Given the description of an element on the screen output the (x, y) to click on. 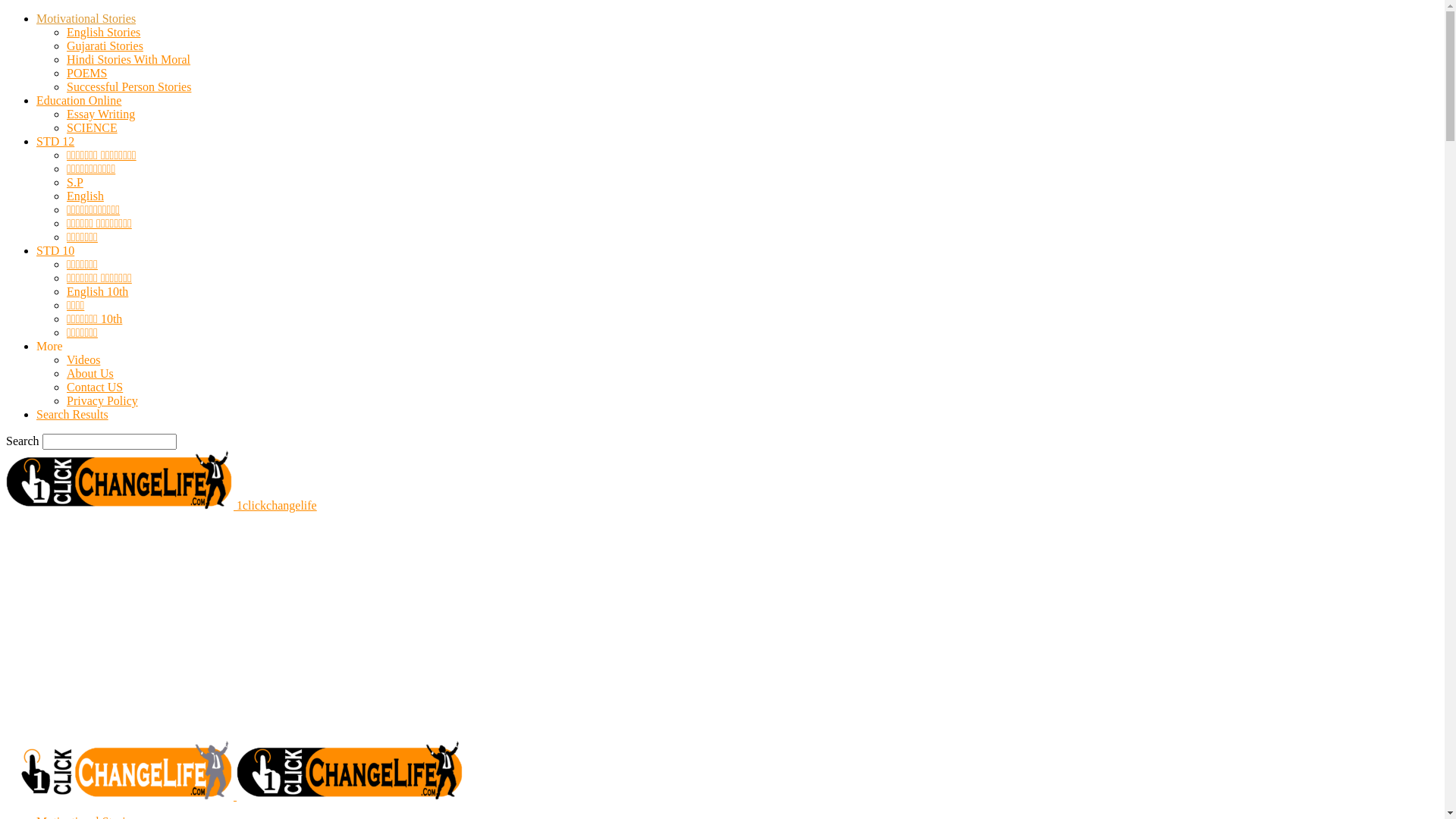
Motivational Stories Element type: text (85, 771)
Successful Person Stories Element type: text (458, 785)
1clickchangelife Element type: text (47, 455)
Gujarati Stories Element type: text (104, 45)
Videos Element type: text (83, 359)
More Element type: text (49, 345)
English Element type: text (84, 195)
Successful Person Stories Element type: text (128, 86)
STD 10 Element type: text (55, 250)
Education Online Element type: text (78, 100)
Hindi Stories With Moral Element type: text (128, 59)
About Us Element type: text (89, 373)
SCIENCE Element type: text (91, 127)
English Stories Element type: text (103, 31)
Hindi Stories With Moral Element type: text (294, 785)
Gujarati Stories Element type: text (194, 785)
English 10th Element type: text (97, 291)
STD 12 Element type: text (55, 140)
POEMS Element type: text (86, 72)
S.P Element type: text (74, 181)
Contact US Element type: text (94, 386)
Motivational Stories Element type: text (85, 18)
English Stories Element type: text (118, 785)
Privacy Policy Element type: text (102, 400)
All Element type: text (73, 785)
Essay Writing Element type: text (100, 113)
Search Results Element type: text (72, 413)
POEMS Element type: text (376, 785)
